Given the description of an element on the screen output the (x, y) to click on. 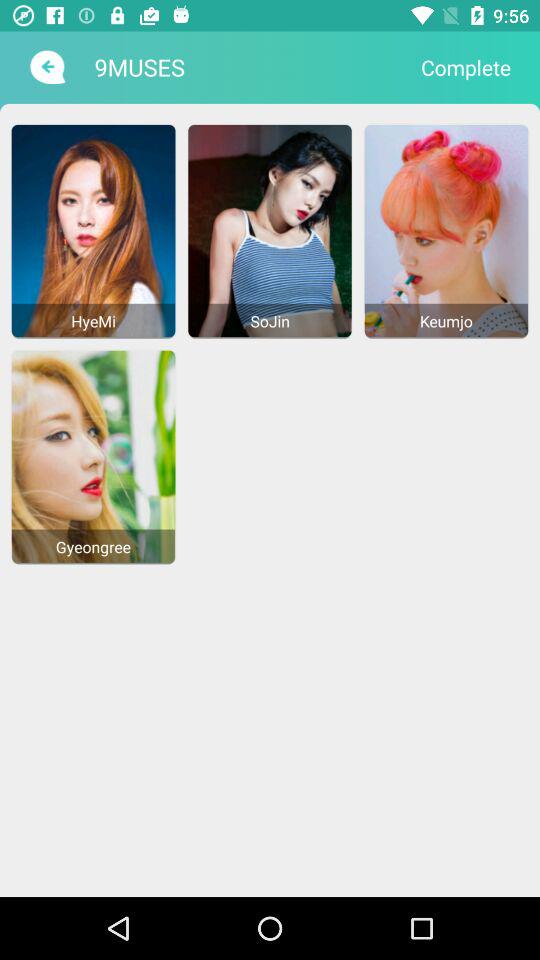
swipe to complete item (465, 67)
